Given the description of an element on the screen output the (x, y) to click on. 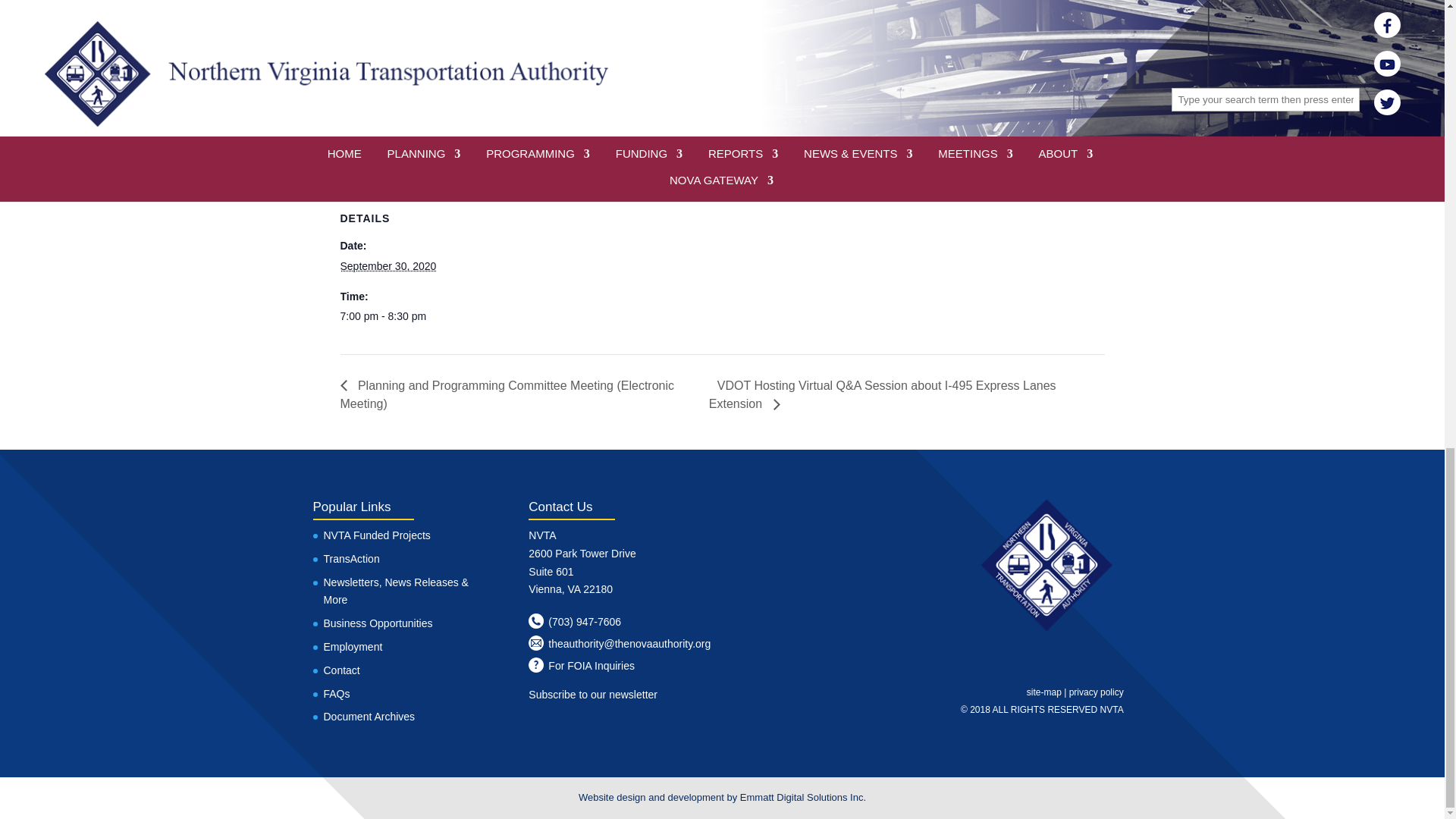
2020-09-30 (403, 316)
2020-09-30 (387, 265)
